Given the description of an element on the screen output the (x, y) to click on. 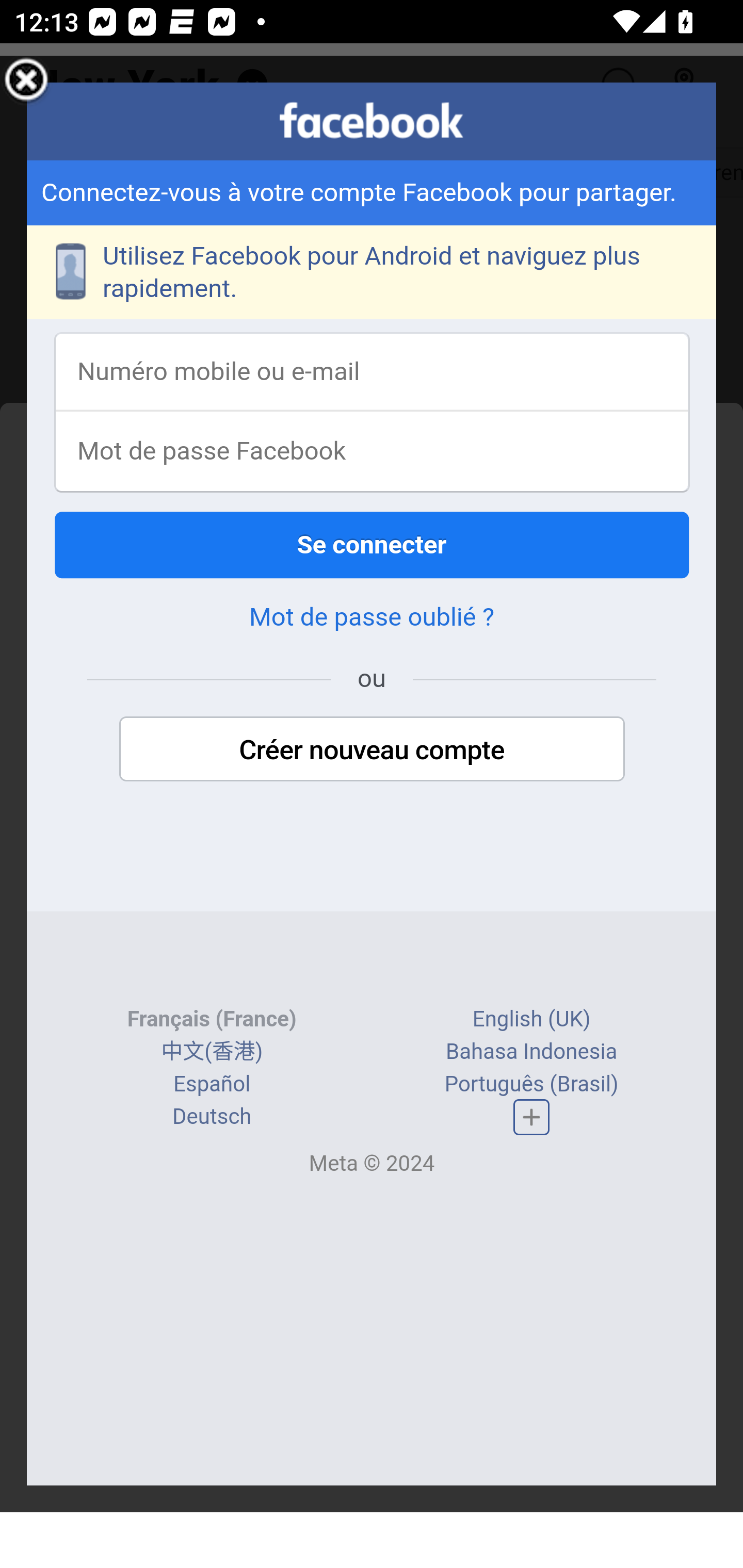
facebook (372, 121)
Se connecter (372, 546)
Mot de passe oublié ? (371, 618)
Créer nouveau compte (371, 751)
English (UK) (531, 1019)
中文(香港) (211, 1052)
Bahasa Indonesia (531, 1052)
Español (212, 1085)
Português (Brasil) (530, 1085)
Liste complète des langues (531, 1118)
Deutsch (211, 1116)
